Given the description of an element on the screen output the (x, y) to click on. 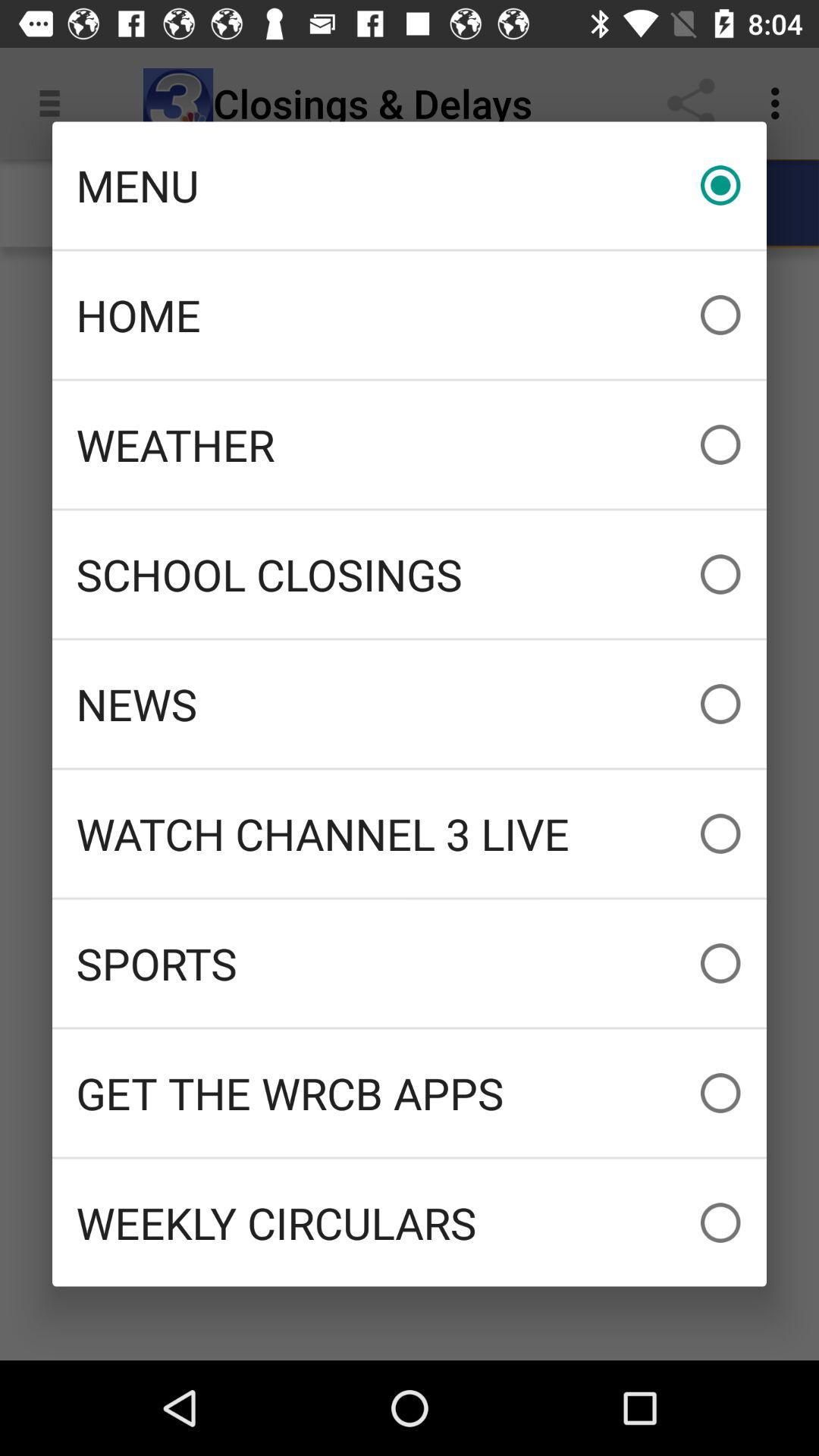
tap get the wrcb icon (409, 1092)
